Given the description of an element on the screen output the (x, y) to click on. 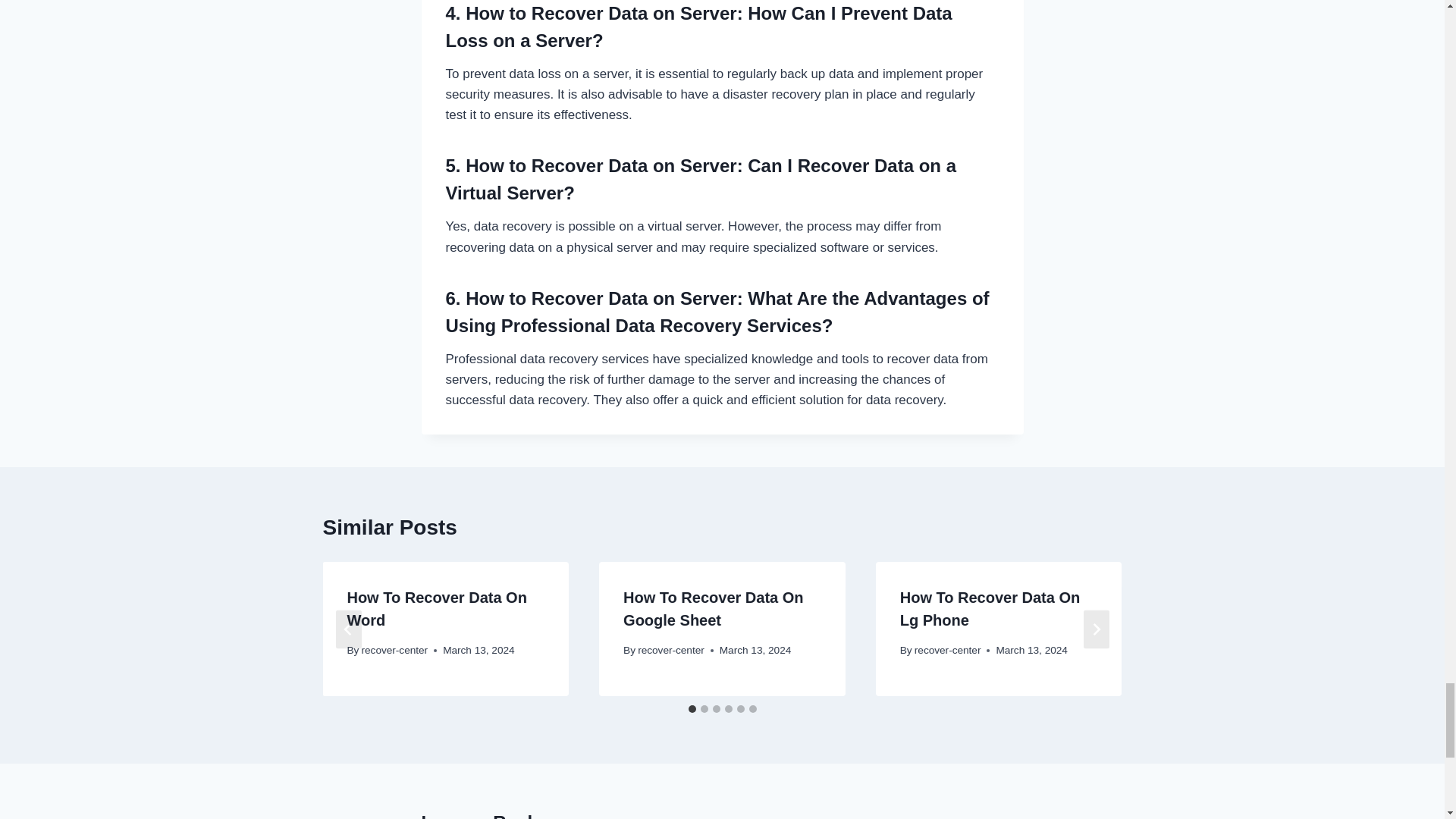
recover-center (394, 650)
How To Recover Data On Word (435, 608)
How To Recover Data On Google Sheet (713, 608)
